Given the description of an element on the screen output the (x, y) to click on. 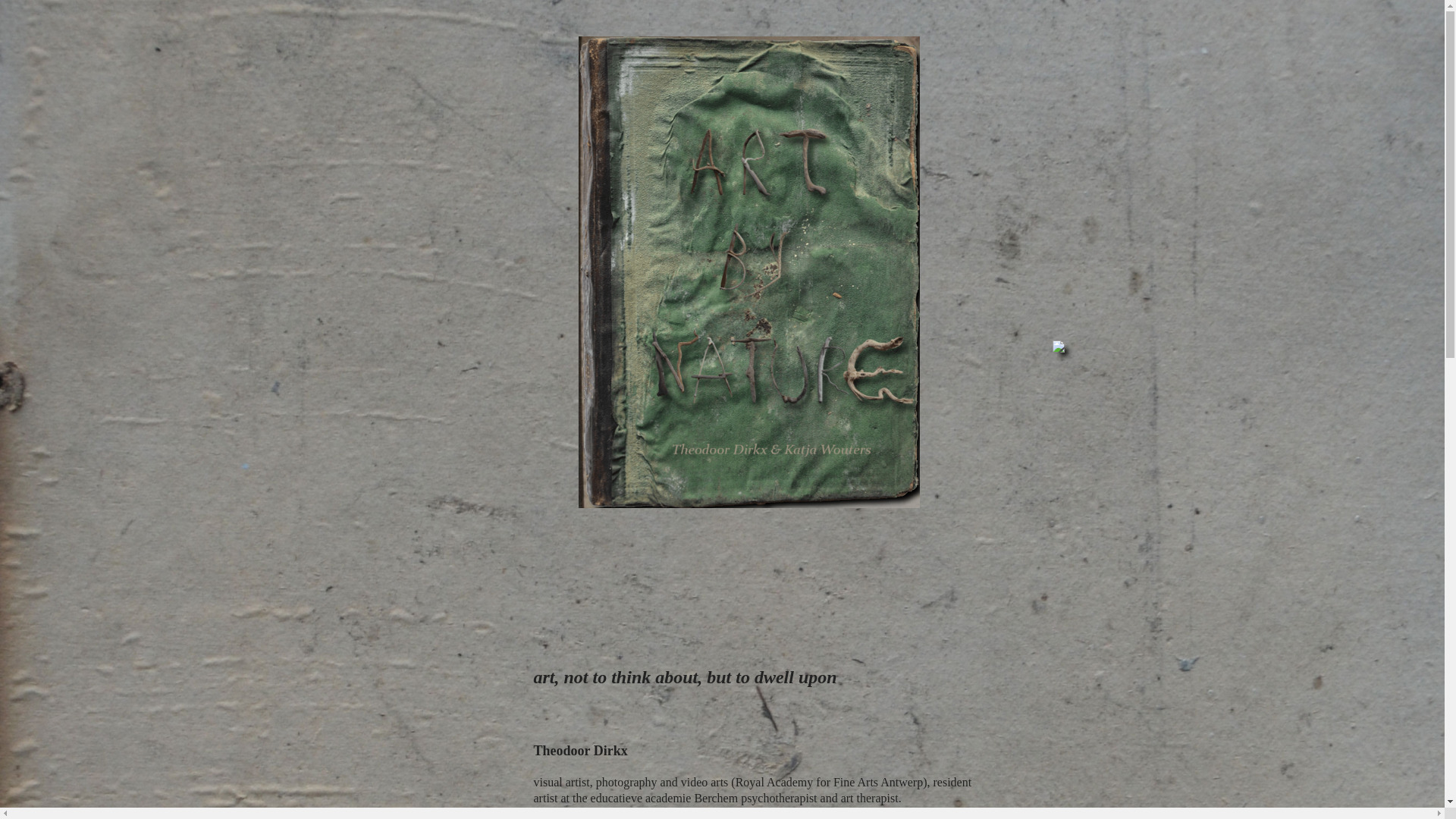
Jump to navigation Element type: text (722, 2)
educatieve academie Berchem Element type: text (664, 797)
